Given the description of an element on the screen output the (x, y) to click on. 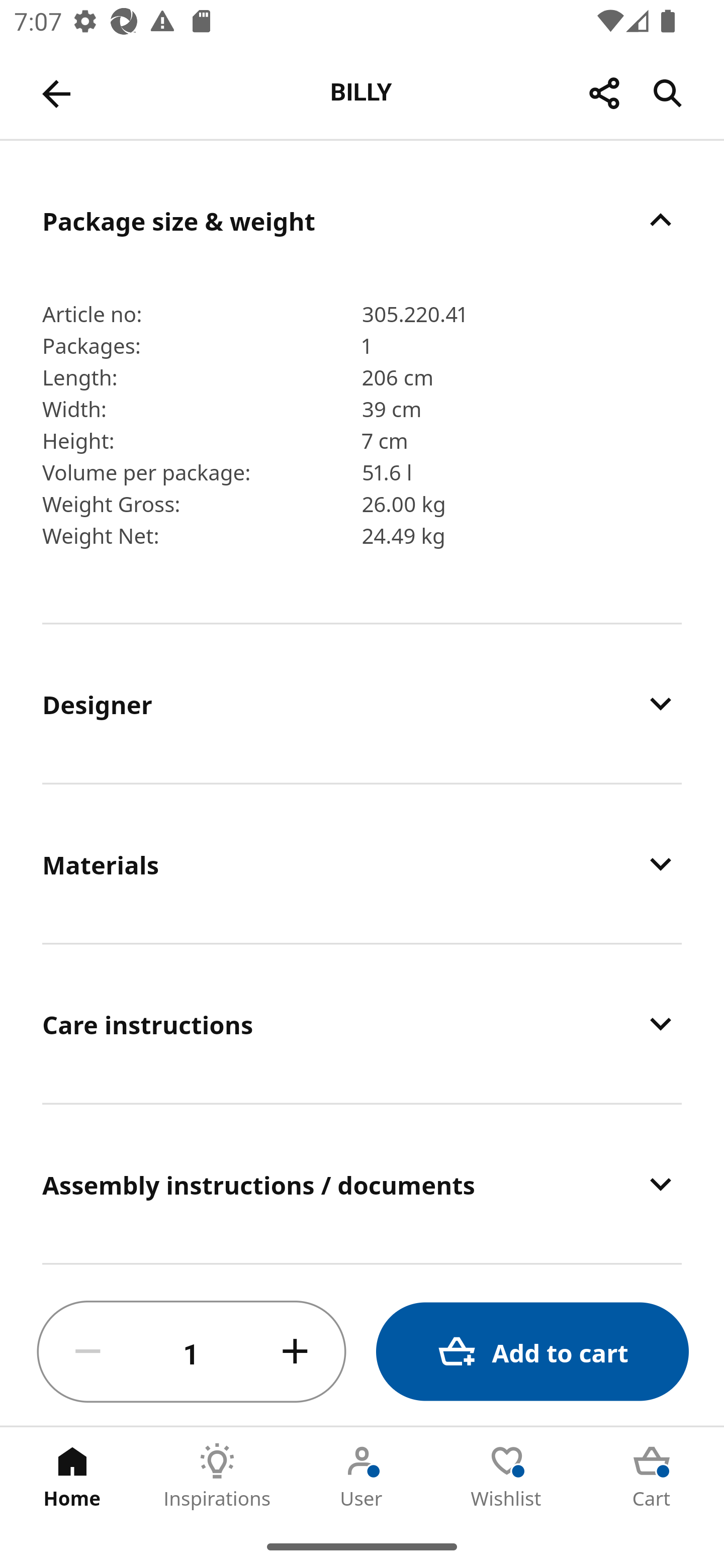
Package size & weight (361, 219)
Designer (361, 702)
Materials (361, 863)
Care instructions (361, 1023)
Assembly instructions / documents (361, 1183)
Add to cart (531, 1352)
1 (191, 1352)
Home
Tab 1 of 5 (72, 1476)
Inspirations
Tab 2 of 5 (216, 1476)
User
Tab 3 of 5 (361, 1476)
Wishlist
Tab 4 of 5 (506, 1476)
Cart
Tab 5 of 5 (651, 1476)
